Given the description of an element on the screen output the (x, y) to click on. 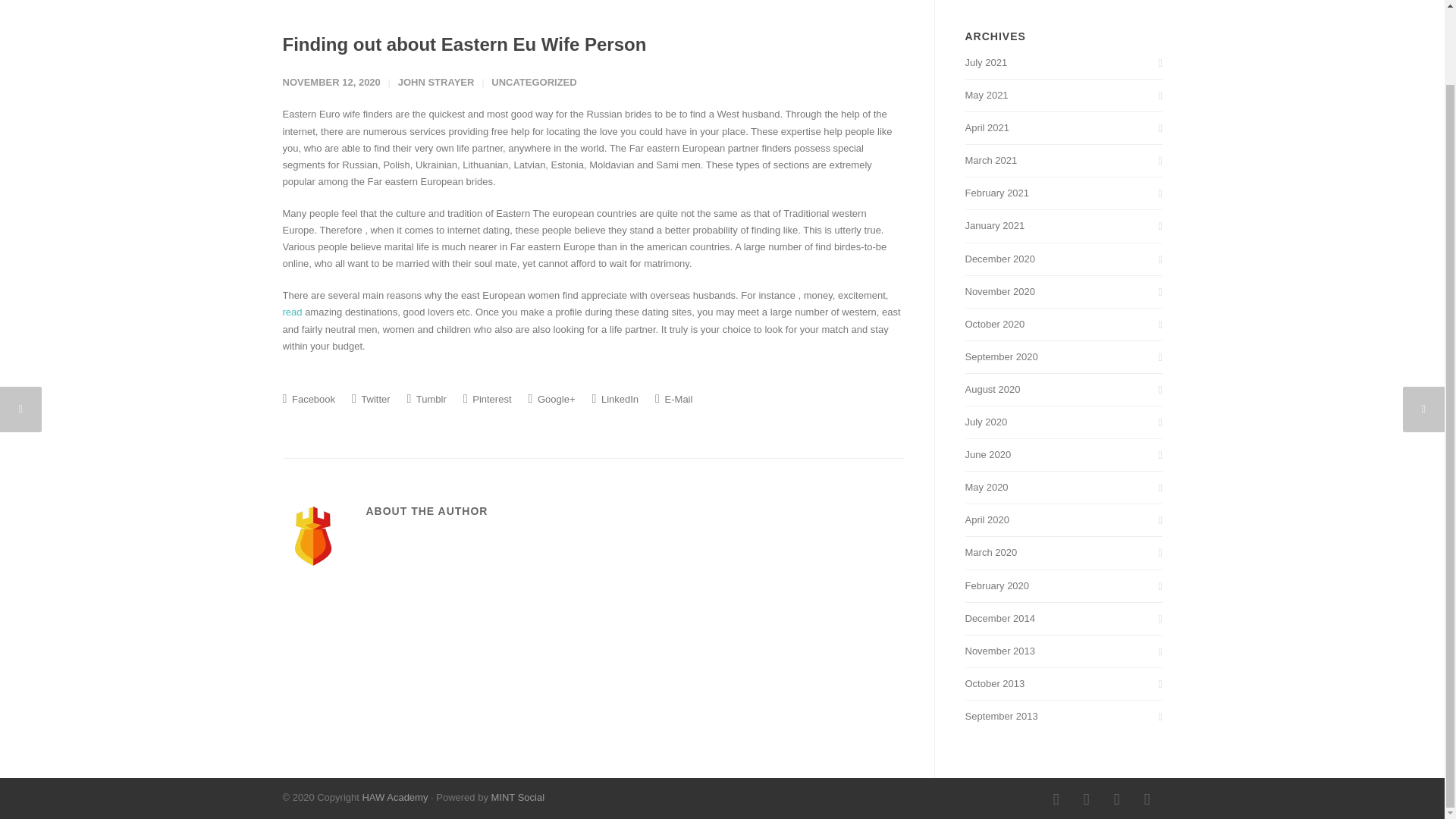
July 2021 (1062, 62)
September 2020 (1062, 356)
E-Mail (674, 398)
August 2020 (1062, 389)
October 2020 (1062, 324)
Twitter (371, 398)
UNCATEGORIZED (534, 81)
Permalink to Finding out about Eastern Eu Wife Person (464, 44)
January 2021 (1062, 225)
Twitter (1115, 798)
Facebook (308, 398)
LinkedIn (615, 398)
March 2020 (1062, 552)
February 2021 (1062, 193)
March 2021 (1062, 160)
